Given the description of an element on the screen output the (x, y) to click on. 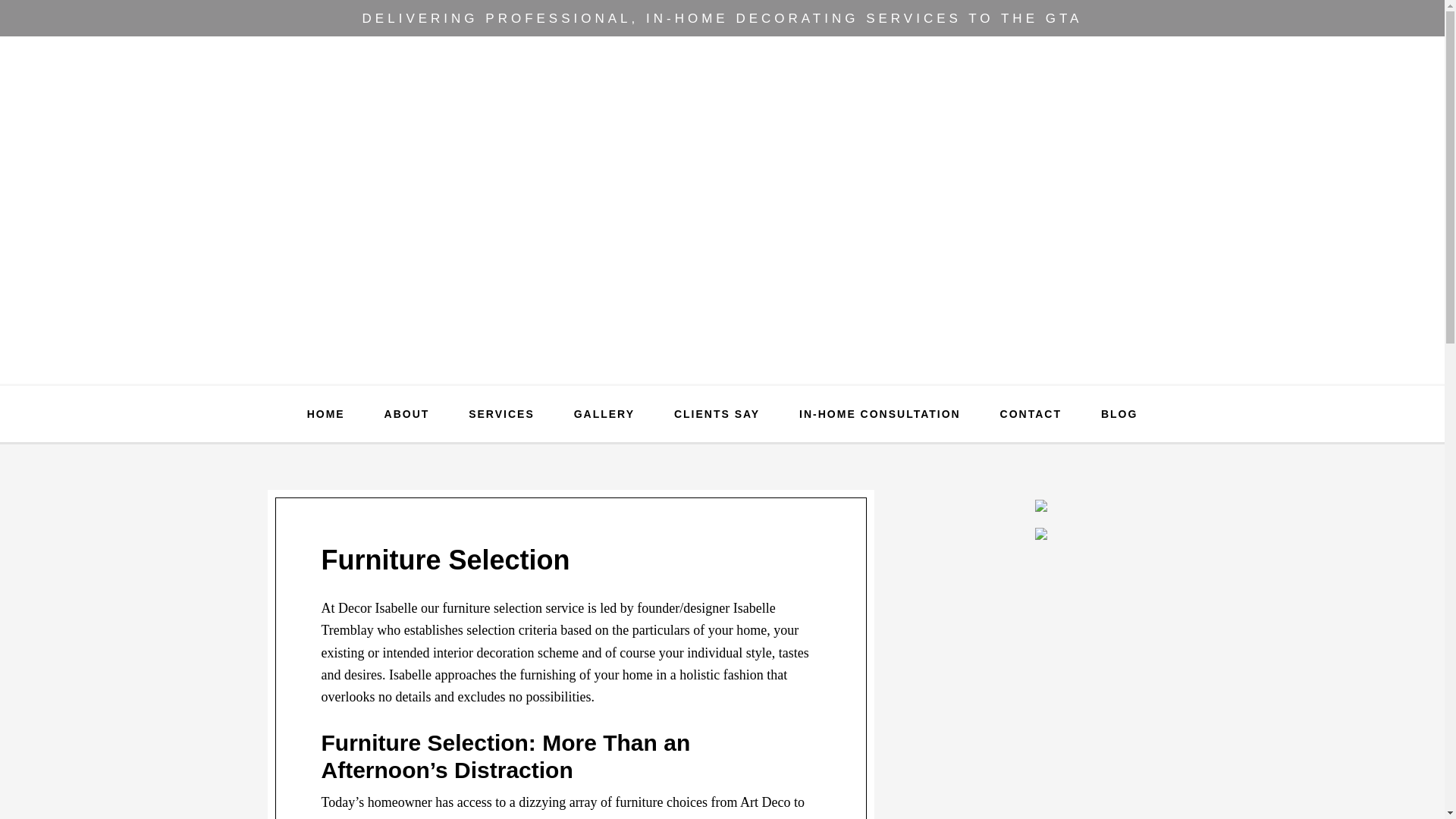
BLOG (1119, 413)
CONTACT (1030, 413)
ABOUT (407, 413)
IN-HOME CONSULTATION (879, 413)
CLIENTS SAY (716, 413)
SERVICES (501, 413)
GALLERY (604, 413)
DECOR ISABELLE (722, 172)
HOME (325, 413)
